Given the description of an element on the screen output the (x, y) to click on. 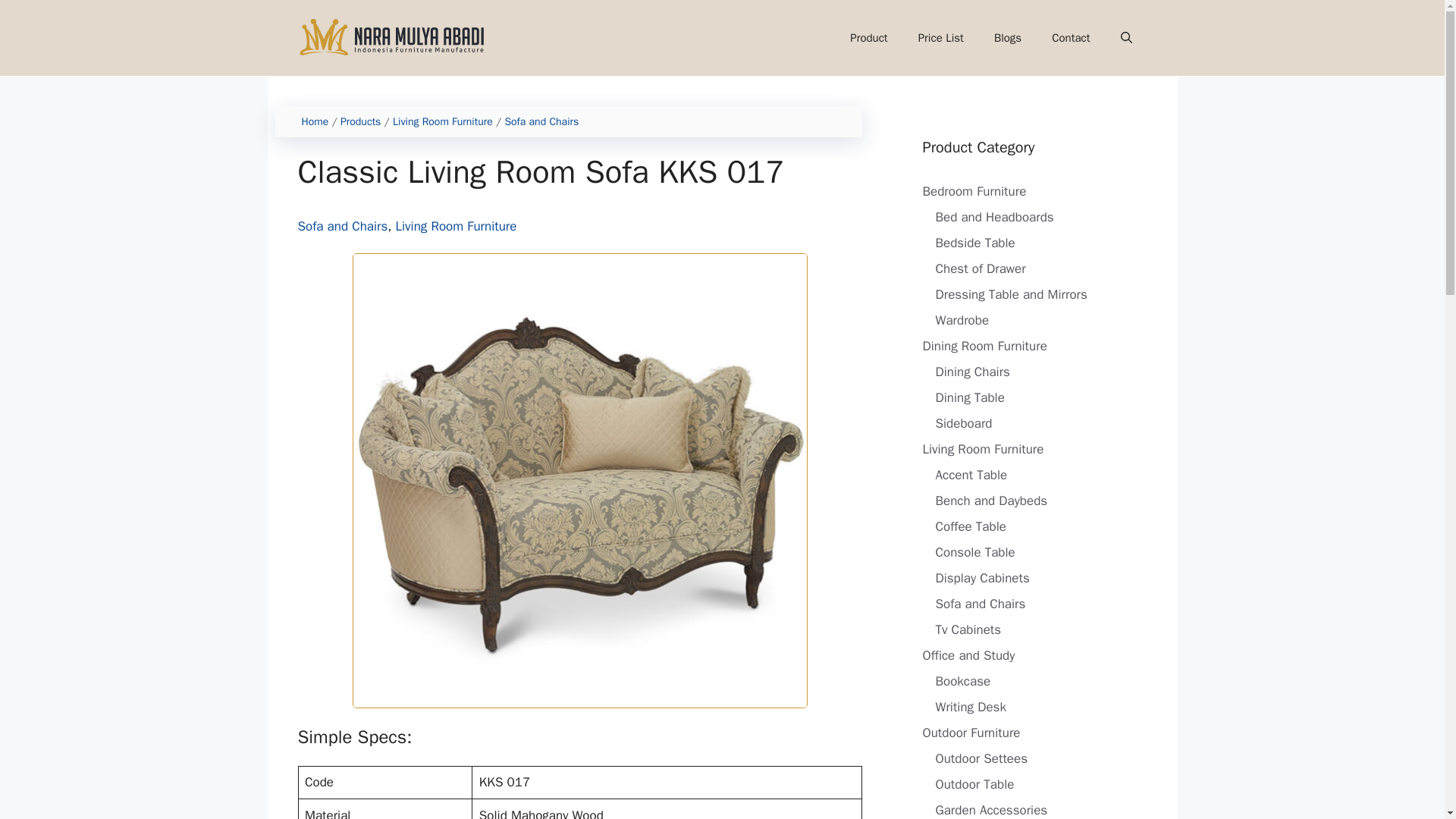
Blogs (1007, 37)
Living Room Furniture (443, 121)
Products (360, 121)
Living Room Furniture (456, 226)
Contact Indonesian Handmade Furnitures (1070, 37)
Bedroom Furniture (973, 191)
Home (315, 121)
Contact (1070, 37)
Sofa and Chairs (540, 121)
Price List (940, 37)
Furniture Price In Indonesia For 2017 (940, 37)
Sofa and Chairs (342, 226)
Product (868, 37)
